Given the description of an element on the screen output the (x, y) to click on. 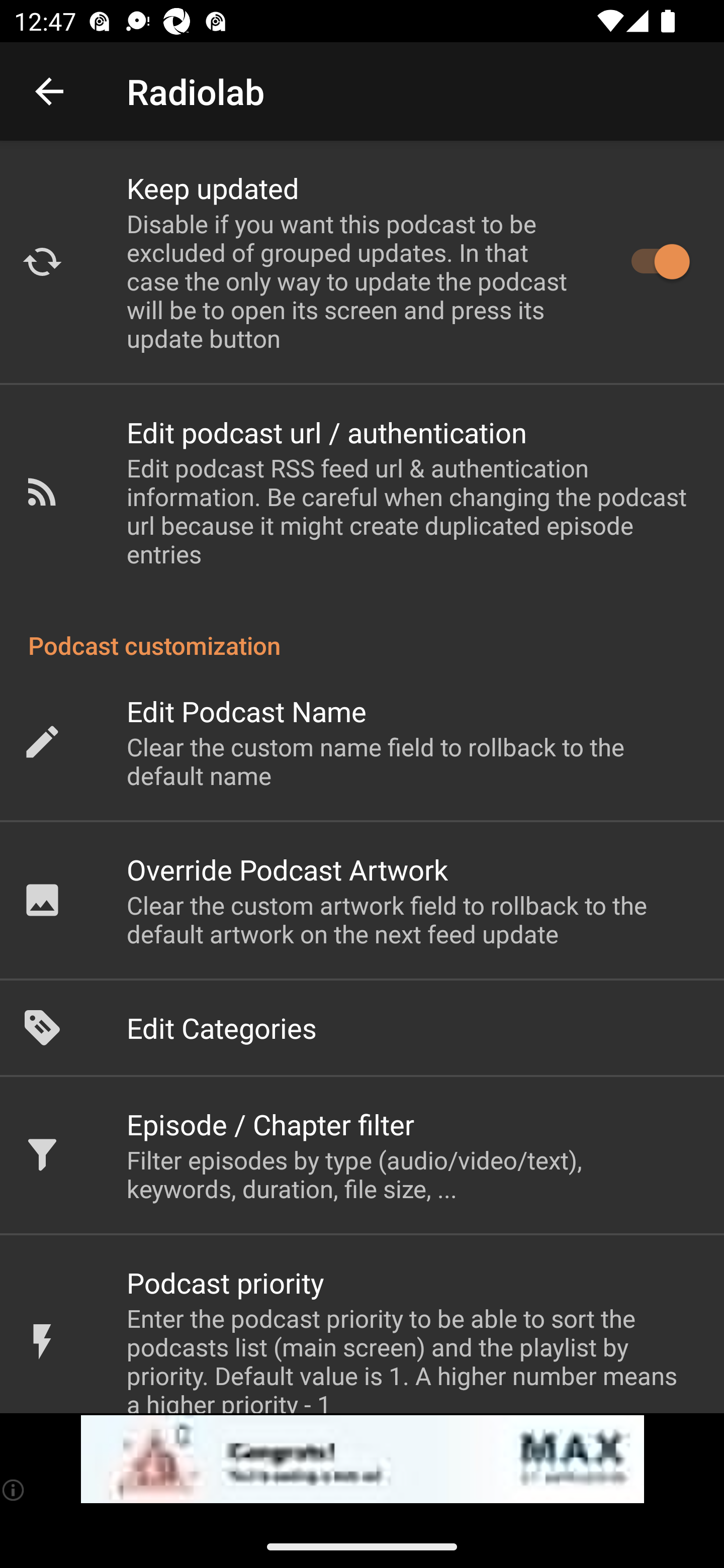
Navigate up (49, 91)
Edit Categories (362, 1027)
app-monetization (362, 1459)
(i) (14, 1489)
